Given the description of an element on the screen output the (x, y) to click on. 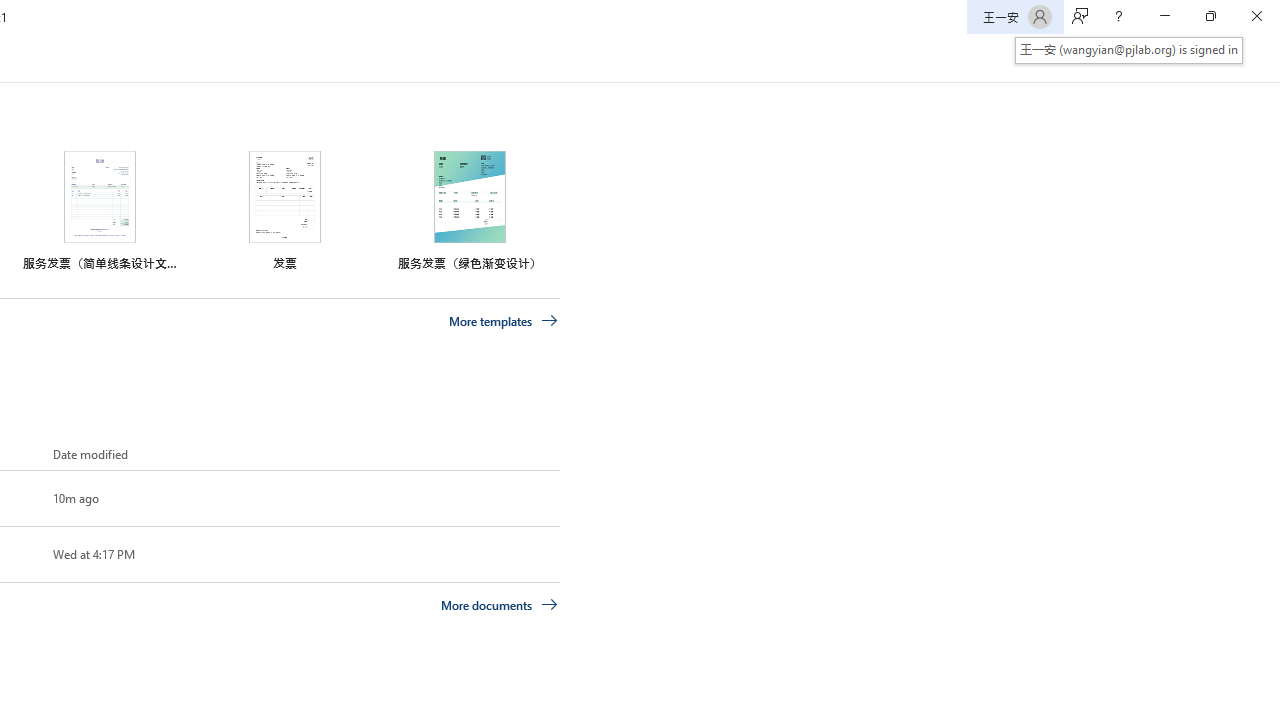
More templates (503, 321)
Pin this item to the list (20, 553)
More documents (499, 604)
